Given the description of an element on the screen output the (x, y) to click on. 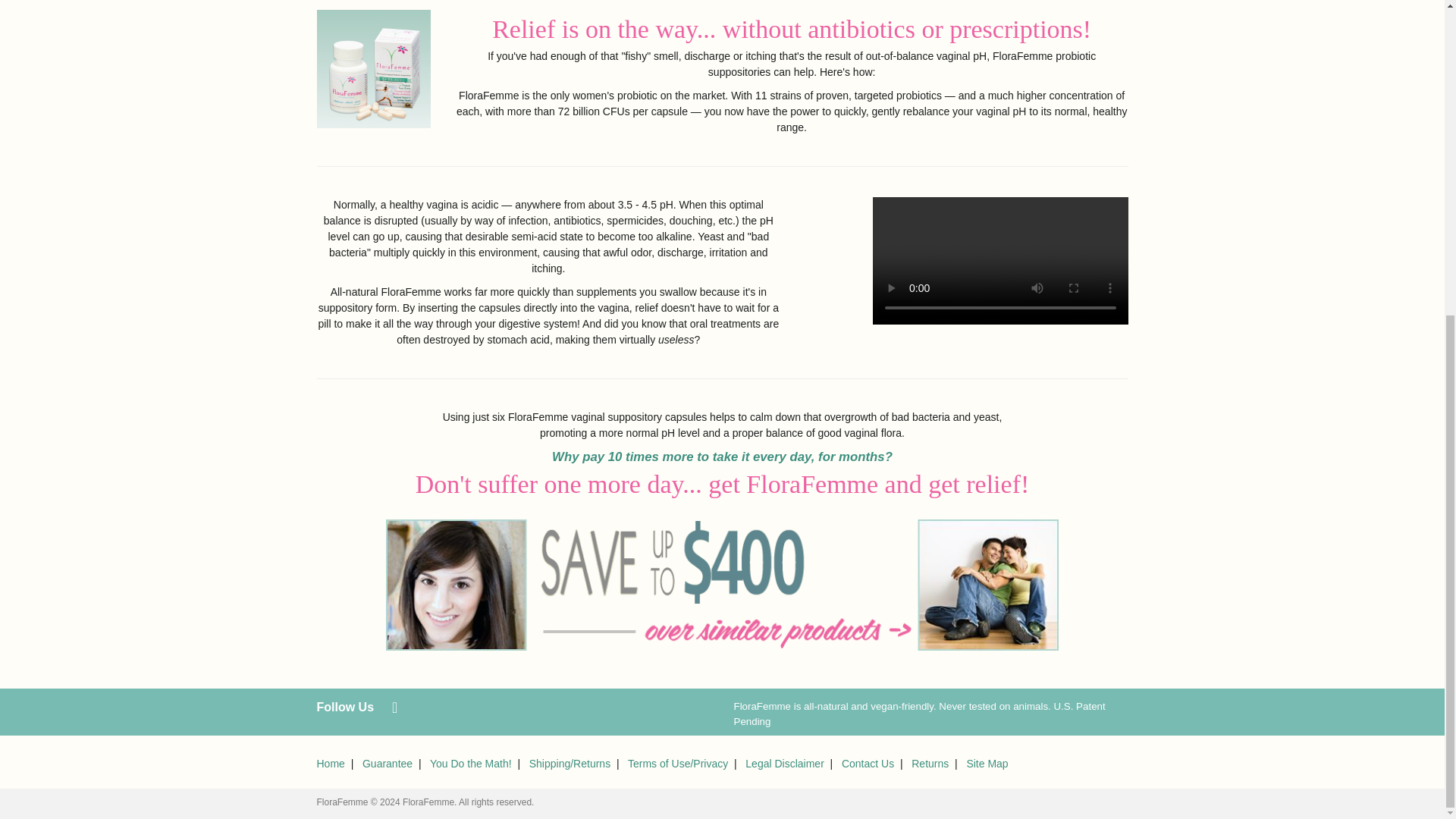
Why pay 10 times more to take it every day, for months? (721, 456)
